Given the description of an element on the screen output the (x, y) to click on. 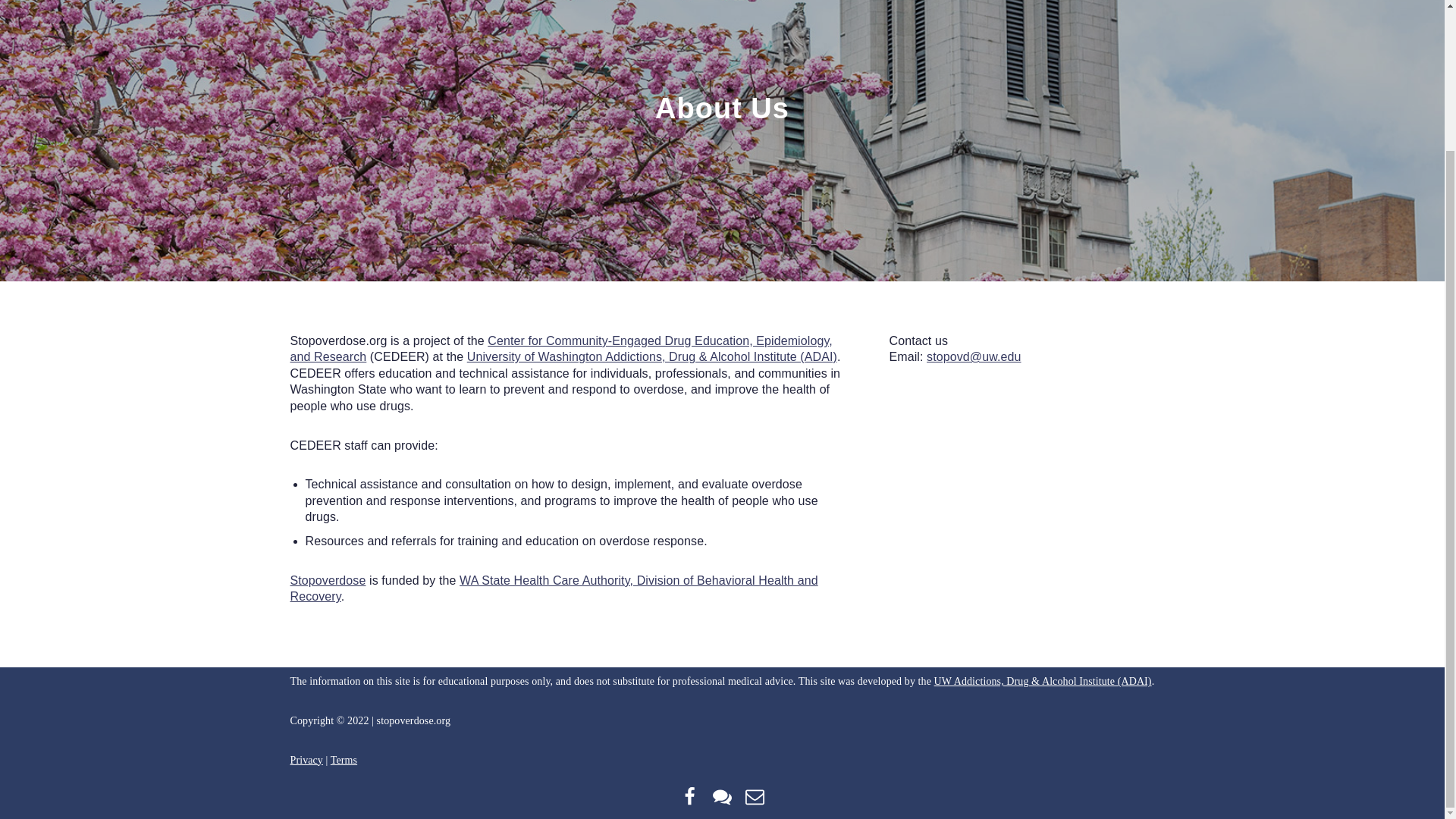
Email (754, 795)
Facebook (690, 795)
Listserv (722, 795)
